Given the description of an element on the screen output the (x, y) to click on. 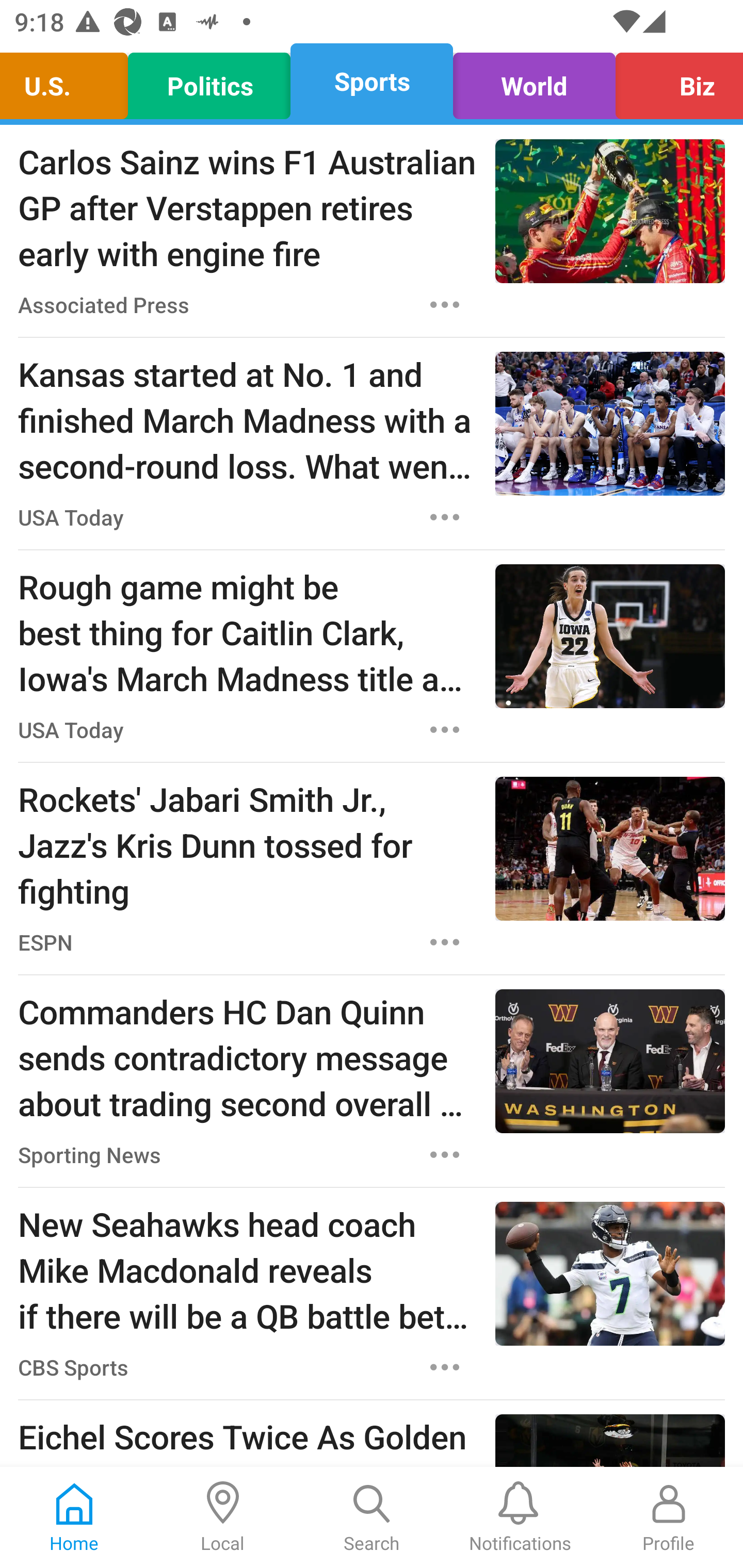
U.S. (69, 81)
Politics (209, 81)
Sports (371, 81)
World (534, 81)
Biz (673, 81)
Options (444, 304)
Options (444, 517)
Options (444, 729)
Options (444, 942)
Options (444, 1154)
Options (444, 1367)
Local (222, 1517)
Search (371, 1517)
Notifications (519, 1517)
Profile (668, 1517)
